Given the description of an element on the screen output the (x, y) to click on. 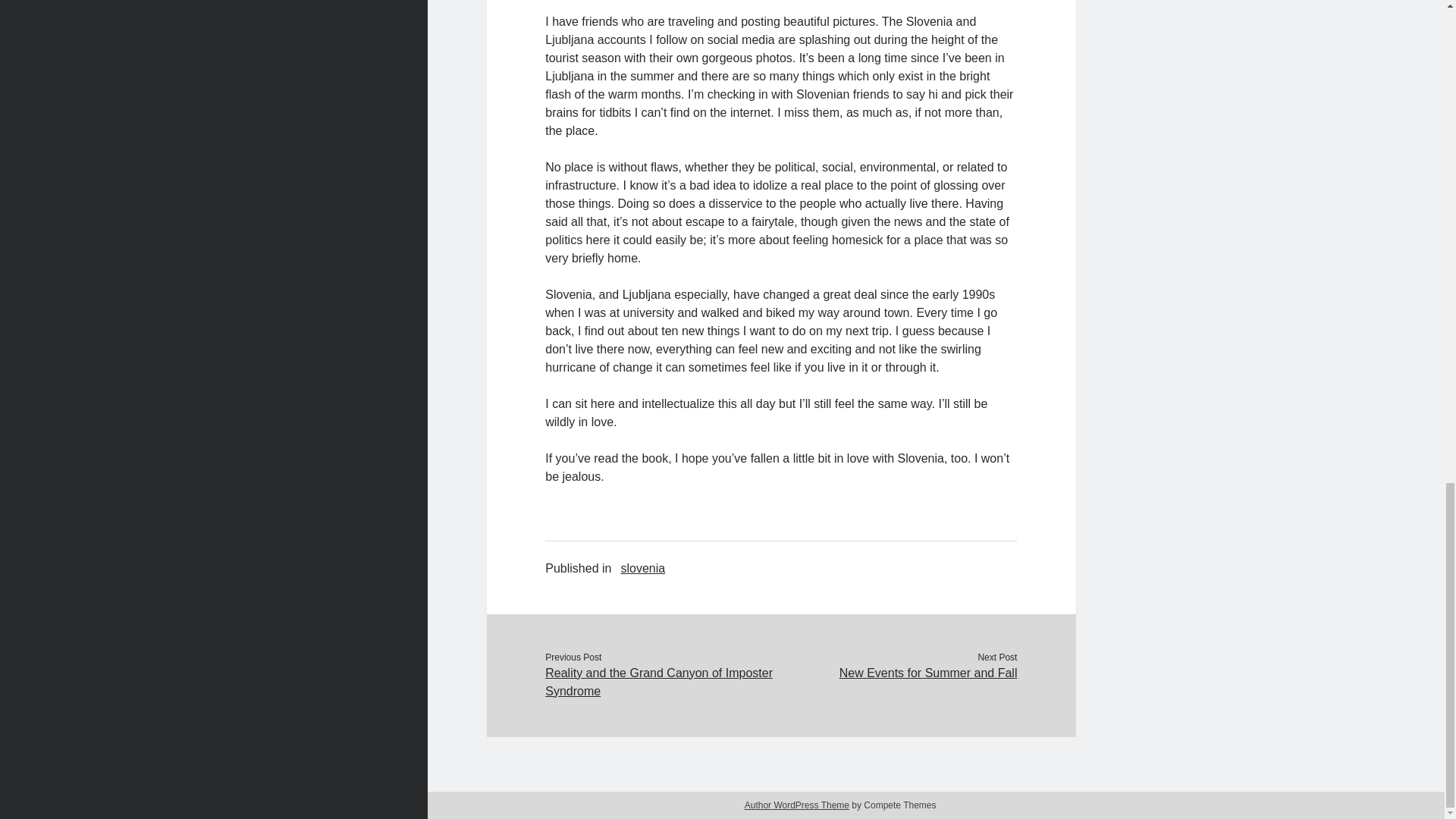
slovenia (642, 568)
Author WordPress Theme (796, 805)
New Events for Summer and Fall (898, 673)
View all posts in slovenia (642, 568)
Reality and the Grand Canyon of Imposter Syndrome (662, 682)
